Given the description of an element on the screen output the (x, y) to click on. 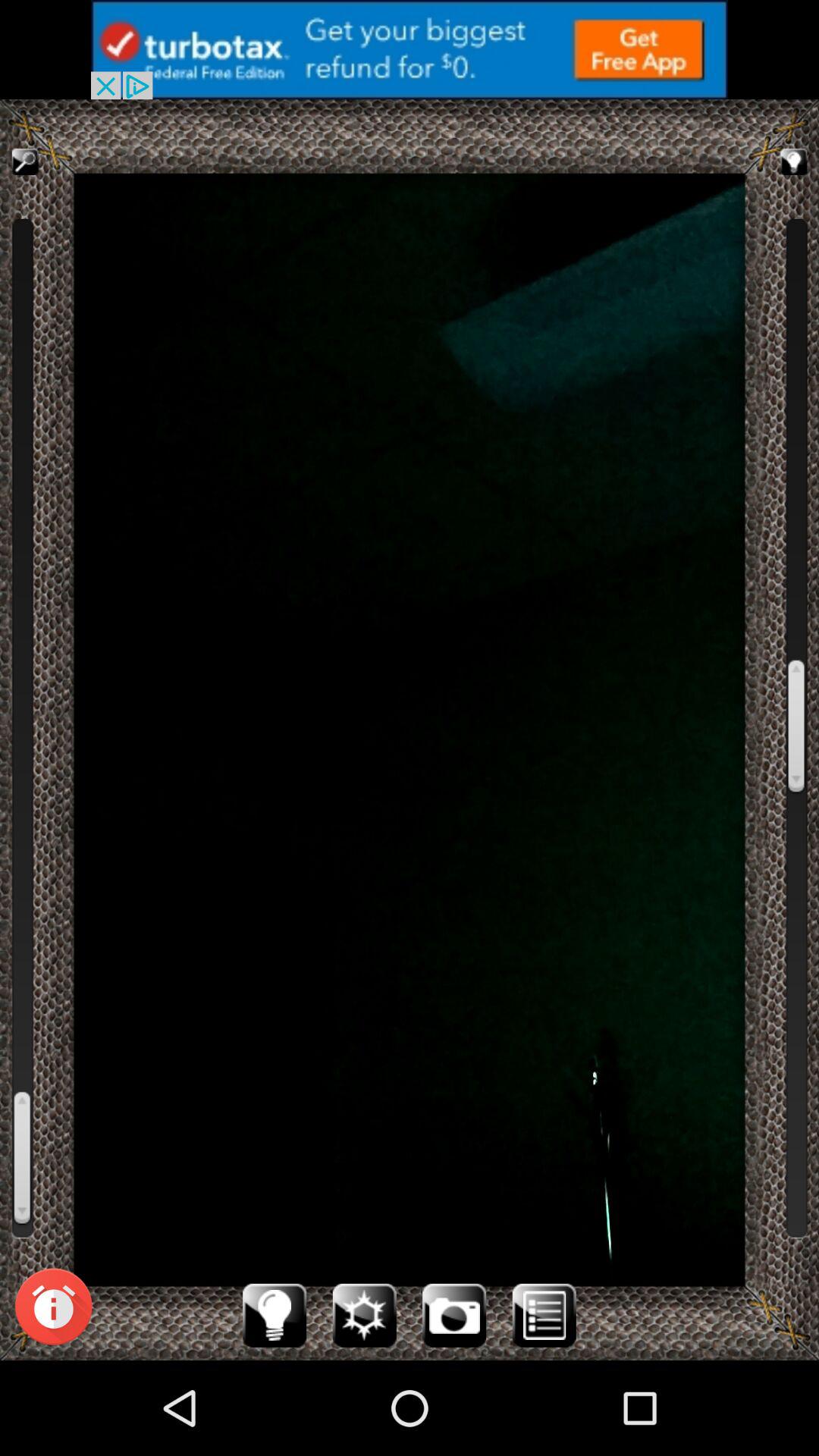
go to website advertisement (409, 49)
